Given the description of an element on the screen output the (x, y) to click on. 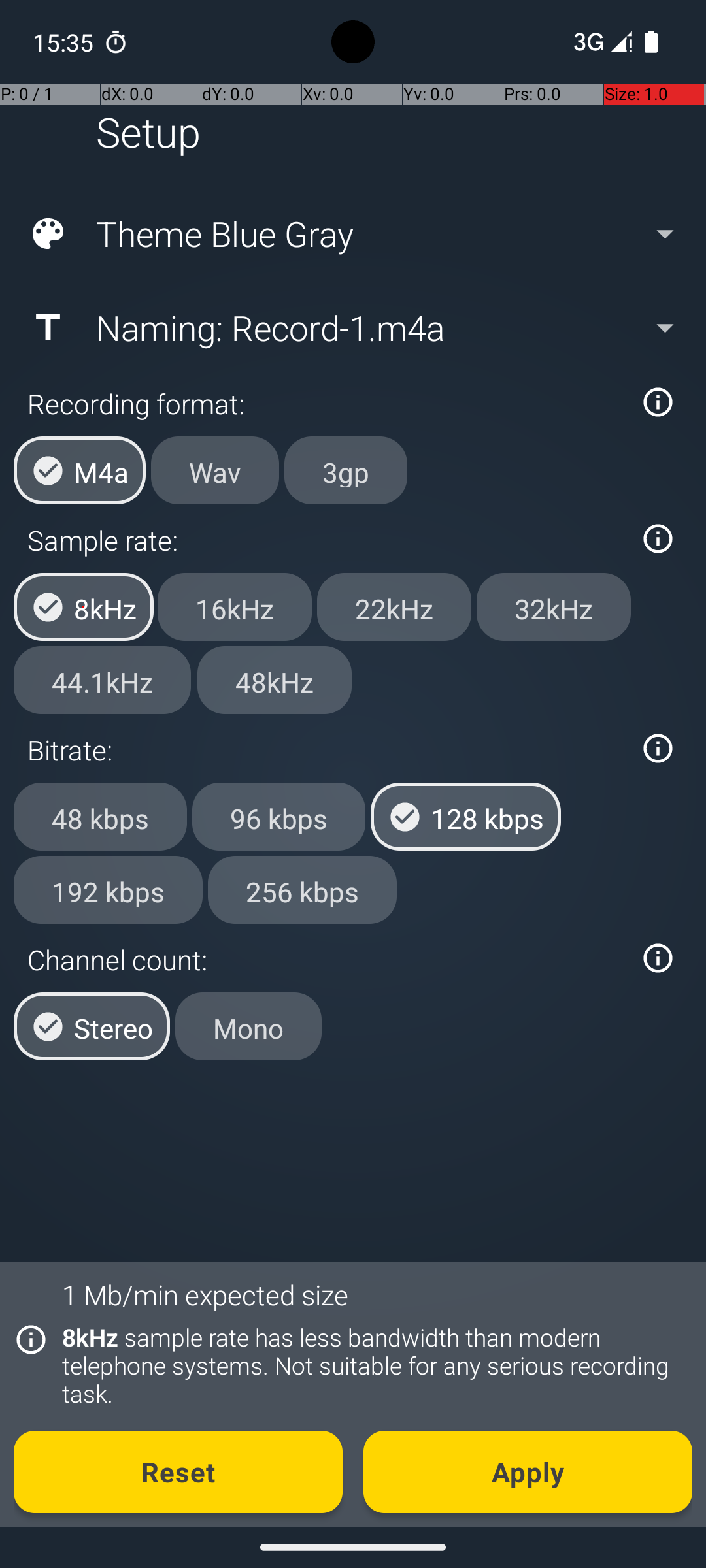
8kHz sample rate has less bandwidth than modern telephone systems. Not suitable for any serious recording task. Element type: android.widget.TextView (370, 1364)
